Given the description of an element on the screen output the (x, y) to click on. 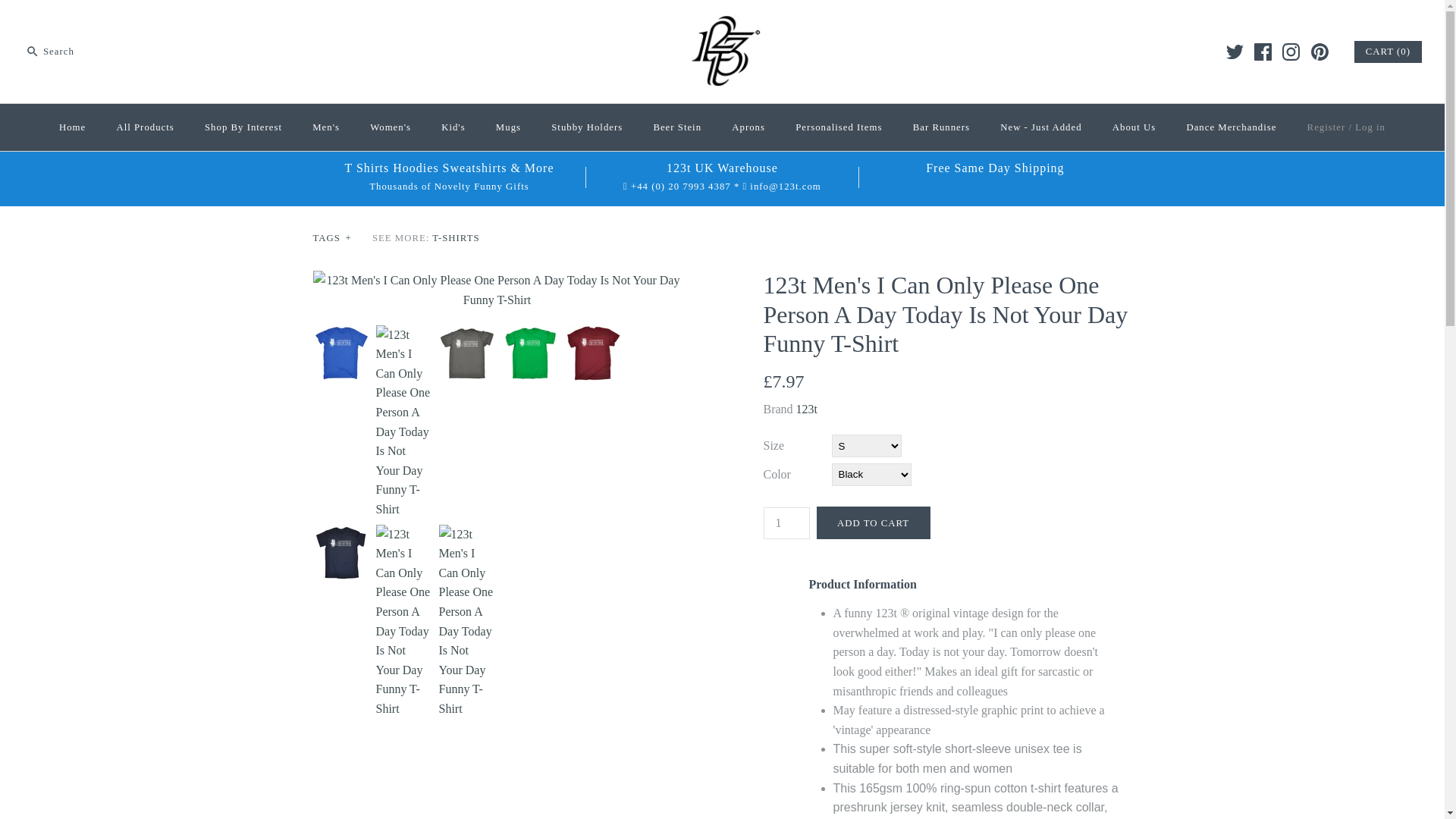
Aprons Element type: text (748, 127)
Men's Element type: text (325, 127)
Women's Element type: text (390, 127)
123t Element type: text (806, 408)
123t UK - T-Shirts & Hoodies Element type: hover (722, 24)
Register Element type: text (1326, 127)
All Products Element type: text (144, 127)
Add to Cart Element type: text (872, 522)
Log in Element type: text (1370, 127)
TAGS + Element type: text (332, 237)
New - Just Added Element type: text (1040, 127)
Beer Stein Element type: text (677, 127)
Stubby Holders Element type: text (586, 127)
CART (0) Element type: text (1387, 51)
Pinterest Element type: text (1319, 51)
Bar Runners Element type: text (941, 127)
About Us Element type: text (1133, 127)
Mugs Element type: text (508, 127)
Shop By Interest Element type: text (243, 127)
Kid's Element type: text (452, 127)
Home Element type: text (72, 127)
Personalised Items Element type: text (838, 127)
Instagram Element type: text (1290, 51)
T-SHIRTS Element type: text (455, 237)
Dance Merchandise Element type: text (1230, 127)
Twitter Element type: text (1234, 51)
Facebook Element type: text (1262, 51)
